Given the description of an element on the screen output the (x, y) to click on. 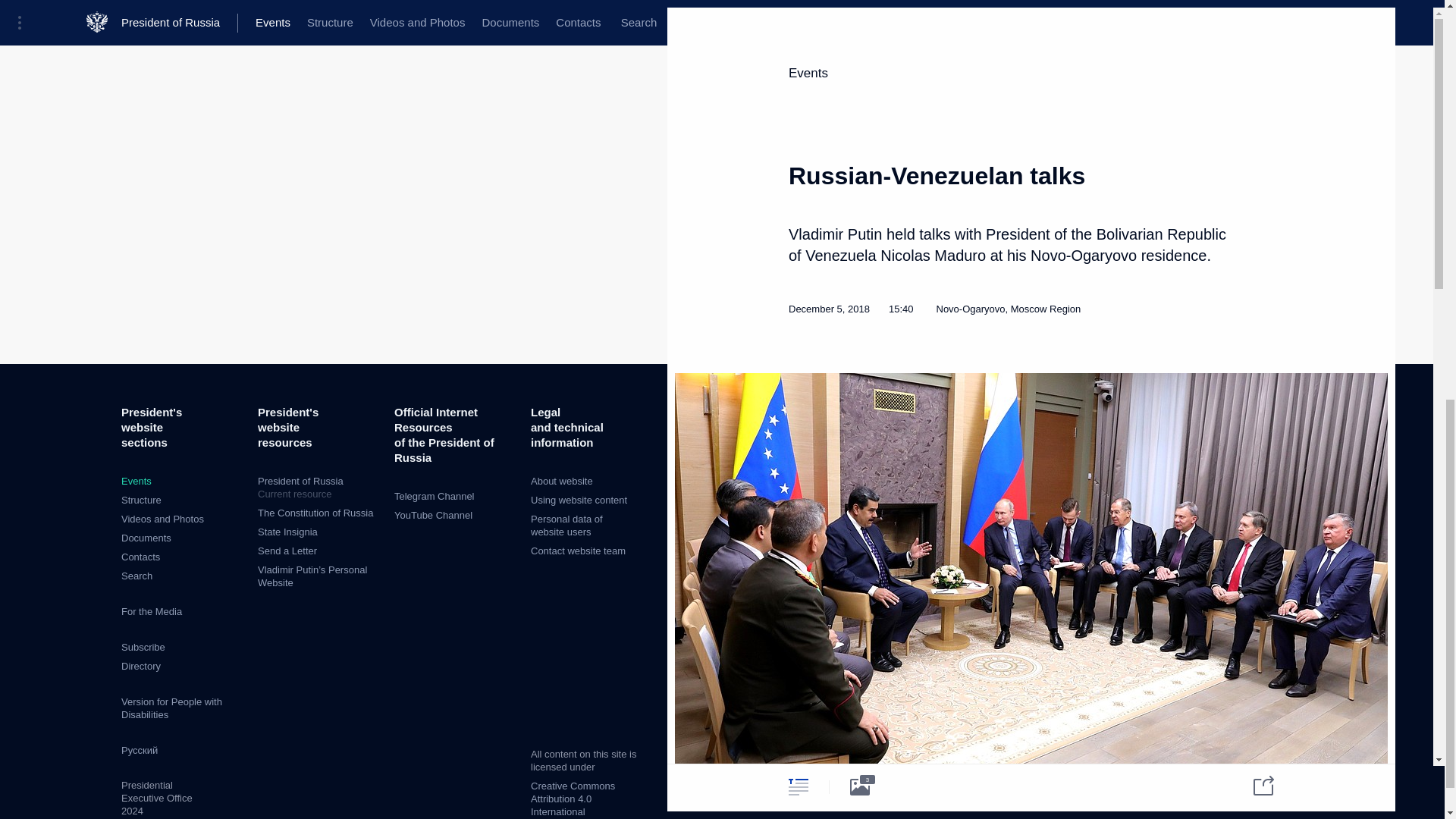
About website (561, 480)
Nicolas Maduro (969, 427)
Using website content (579, 500)
The Constitution of Russia (314, 512)
State Insignia (287, 531)
For the Media (317, 487)
Videos and Photos (151, 611)
Send a Letter (161, 518)
Events (287, 550)
Structure (135, 480)
Creative Commons Attribution 4.0 International (140, 500)
Documents (572, 798)
Subscribe (145, 537)
Contacts (142, 646)
